Given the description of an element on the screen output the (x, y) to click on. 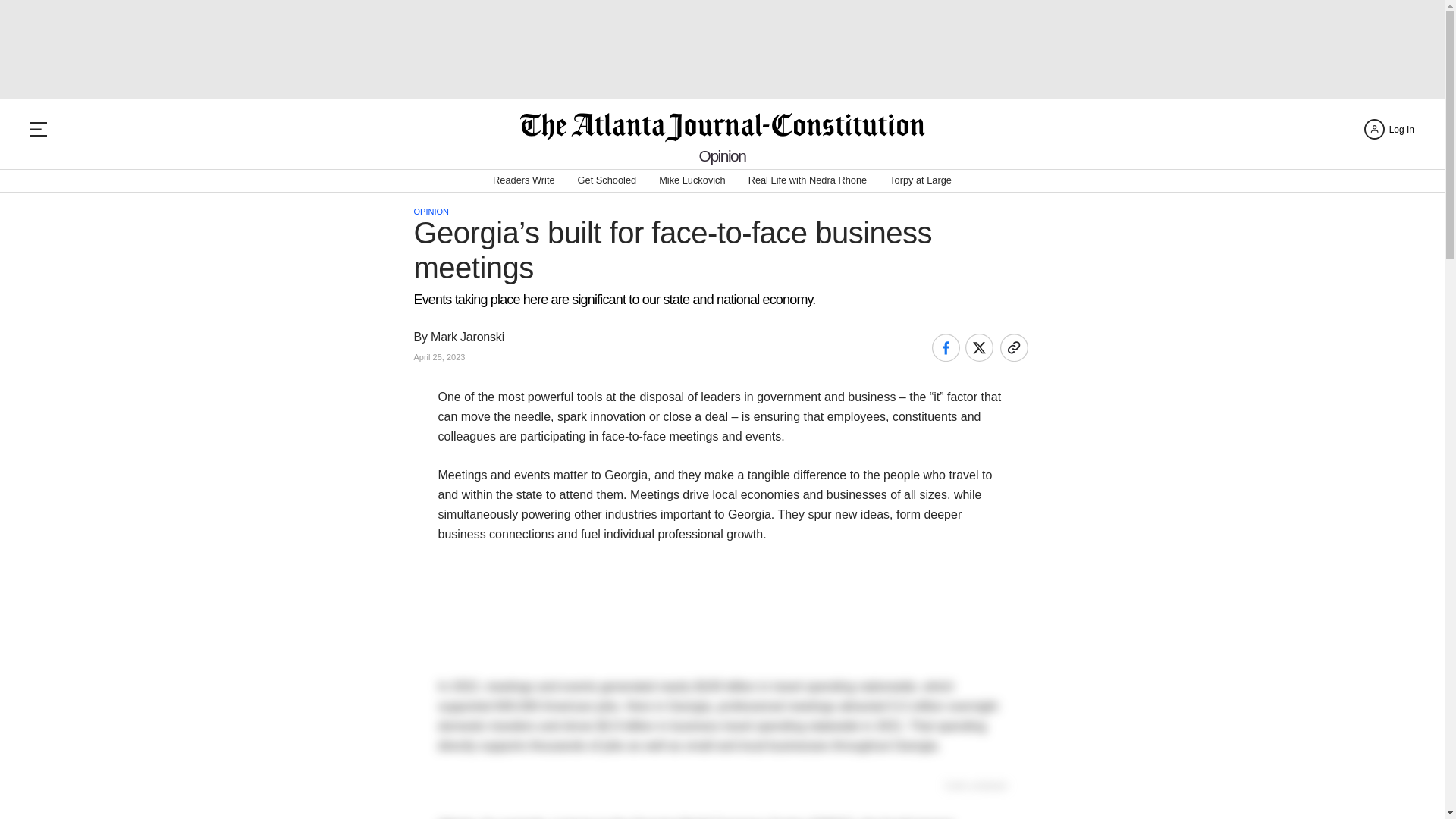
Readers Write (523, 180)
Opinion (721, 155)
Torpy at Large (920, 180)
Get Schooled (607, 180)
Mike Luckovich (692, 180)
Real Life with Nedra Rhone (807, 180)
